Given the description of an element on the screen output the (x, y) to click on. 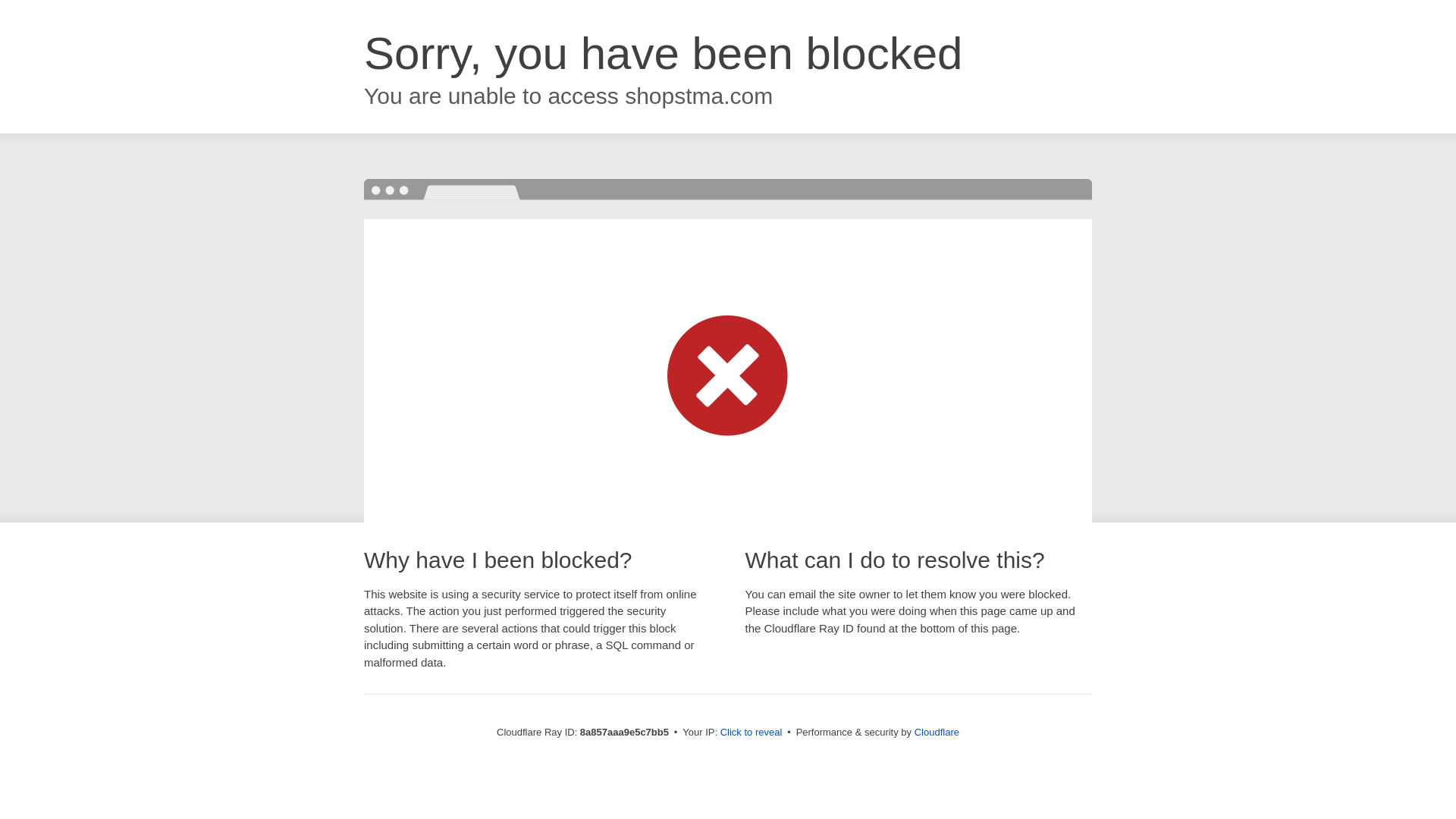
Click to reveal (751, 732)
Cloudflare (936, 731)
